Given the description of an element on the screen output the (x, y) to click on. 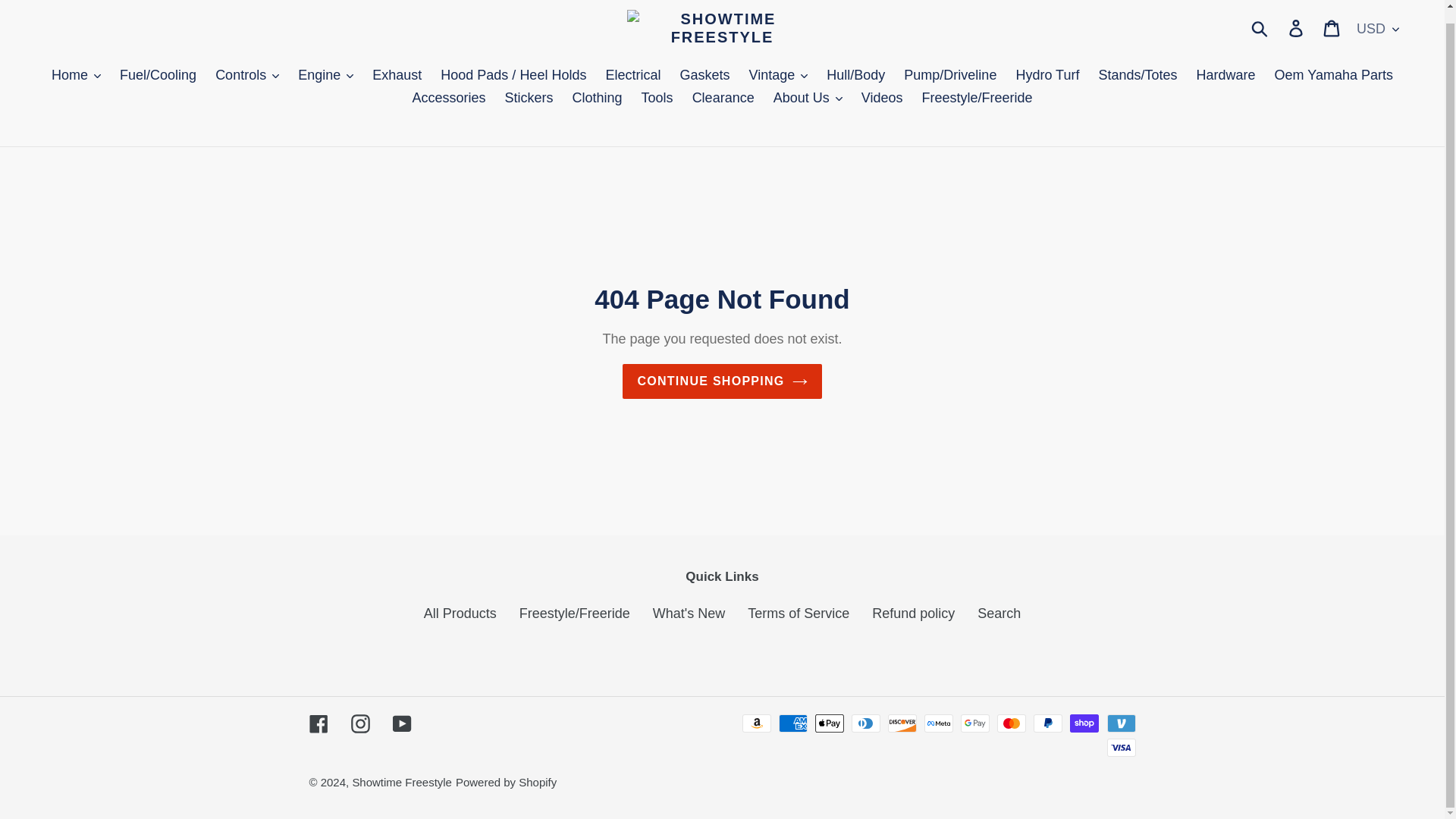
Log in (1296, 27)
Cart (1332, 27)
Submit (1260, 28)
